Given the description of an element on the screen output the (x, y) to click on. 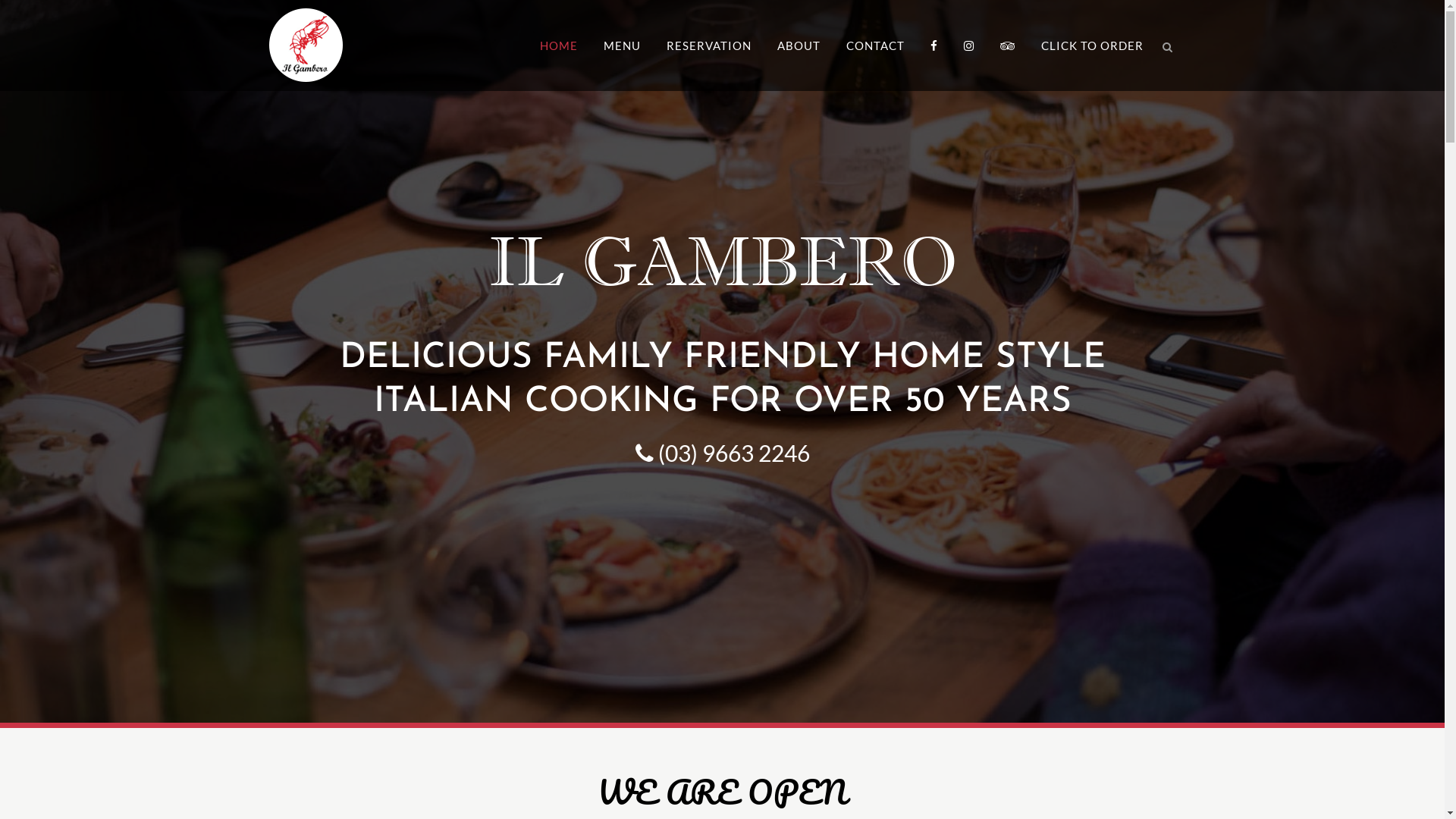
MENU Element type: text (620, 45)
CONTACT Element type: text (874, 45)
HOME Element type: text (557, 45)
ABOUT Element type: text (798, 45)
(03) 9663 2246 Element type: text (722, 451)
RESERVATION Element type: text (708, 45)
CLICK TO ORDER Element type: text (1092, 45)
